Given the description of an element on the screen output the (x, y) to click on. 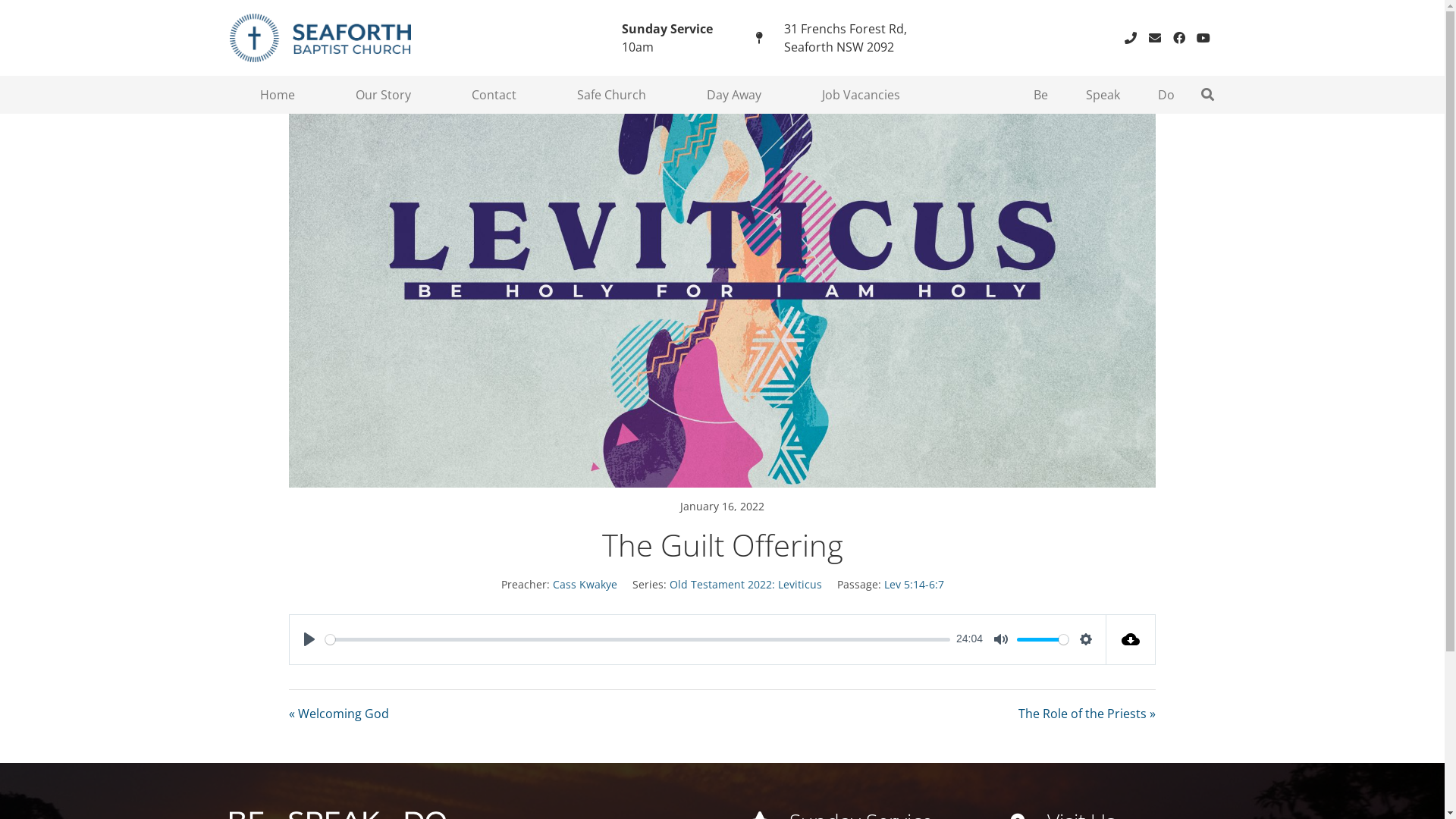
Facebook Element type: hover (1178, 37)
Mute Element type: text (1000, 639)
Be Element type: text (1040, 94)
Download Audio File Element type: hover (1130, 639)
Play Element type: text (309, 639)
Title Element type: hover (1129, 37)
Speak Element type: text (1102, 94)
YouTube Element type: hover (1202, 37)
Email Element type: hover (1154, 37)
Cass Kwakye Element type: text (584, 584)
Home Element type: text (276, 94)
Safe Church Element type: text (610, 94)
Job Vacancies Element type: text (860, 94)
Contact Element type: text (493, 94)
Old Testament 2022: Leviticus Element type: text (744, 584)
Do Element type: text (1166, 94)
Settings Element type: text (1085, 639)
Day Away Element type: text (733, 94)
Lev 5:14-6:7 Element type: text (914, 584)
Our Story Element type: text (382, 94)
